Given the description of an element on the screen output the (x, y) to click on. 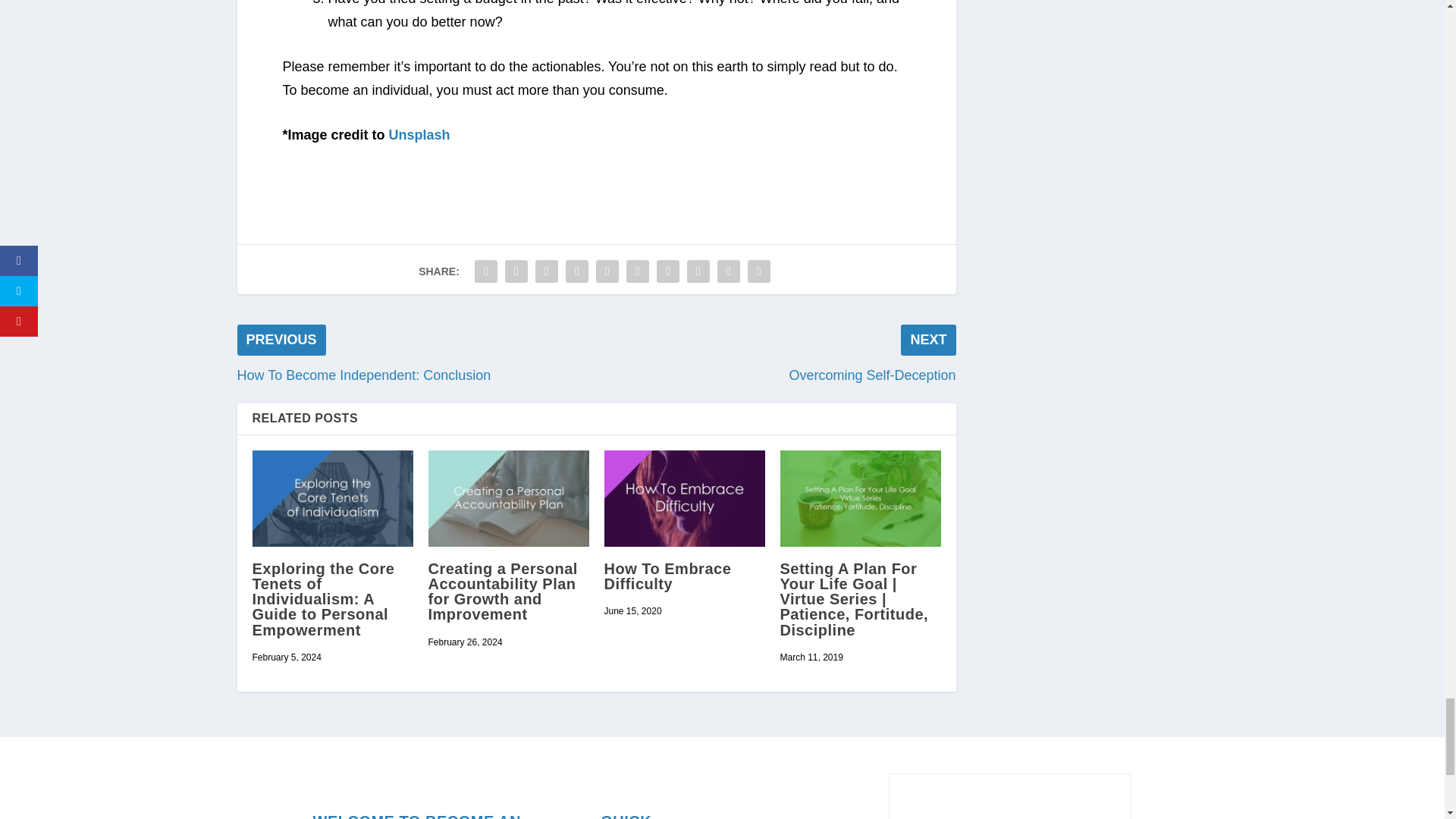
Share "How To Create A Budget" via Buffer (667, 271)
Share "How To Create A Budget" via Pinterest (607, 271)
Share "How To Create A Budget" via Tumblr (577, 271)
Share "How To Create A Budget" via Twitter (515, 271)
Share "How To Create A Budget" via Print (759, 271)
Share "How To Create A Budget" via LinkedIn (637, 271)
Share "How To Create A Budget" via Email (728, 271)
Share "How To Create A Budget" via Stumbleupon (697, 271)
Share "How To Create A Budget" via Facebook (485, 271)
